Given the description of an element on the screen output the (x, y) to click on. 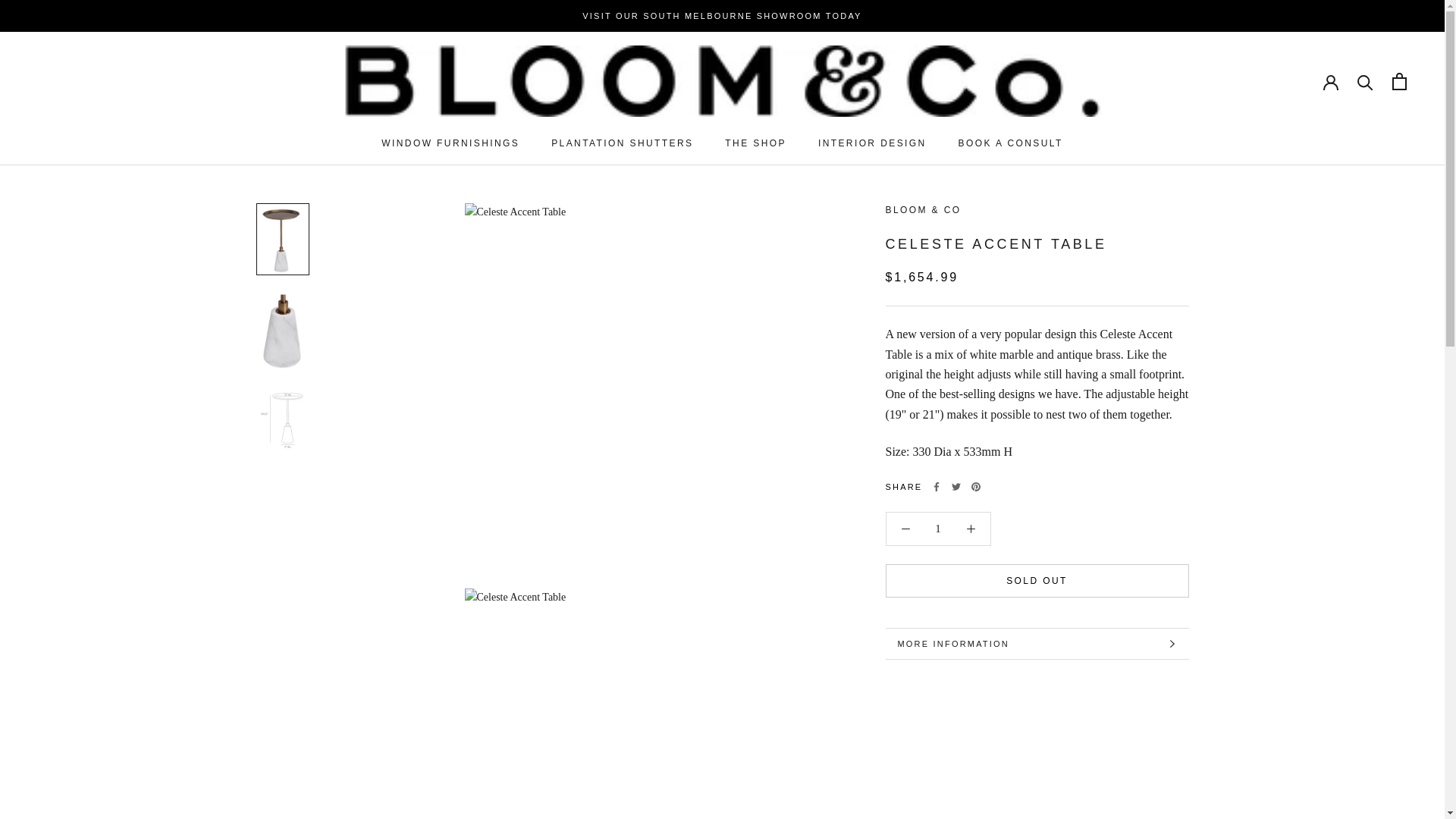
VISIT OUR SOUTH MELBOURNE SHOWROOM TODAY (721, 15)
THE SHOP (622, 143)
WINDOW FURNISHINGS (755, 143)
1 (450, 143)
